Given the description of an element on the screen output the (x, y) to click on. 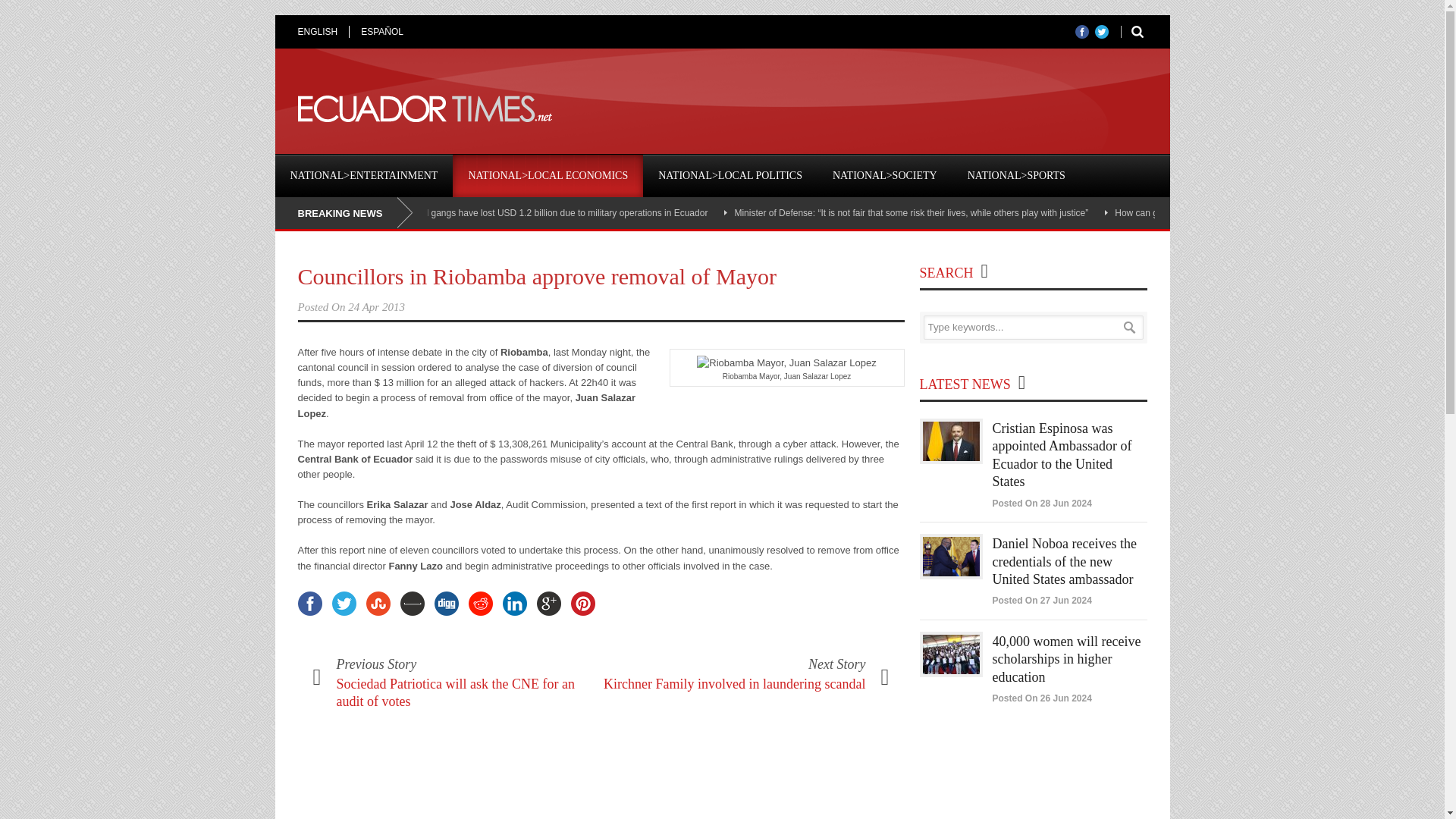
Advertisement (1032, 781)
Type keywords... (1032, 327)
How can green banana flour enhance baked goods? (1220, 213)
24 Apr 2013 (375, 306)
Riobamba Mayor, Juan Salazar Lopez (786, 363)
Advertisement (870, 109)
Posted On 28 Jun 2024 (1040, 502)
Sociedad Patriotica will ask the CNE for an audit of votes (454, 692)
ENGLISH (323, 31)
Kirchner Family involved in laundering scandal (734, 683)
Councillors in Riobamba approve removal of Mayor (536, 276)
